Given the description of an element on the screen output the (x, y) to click on. 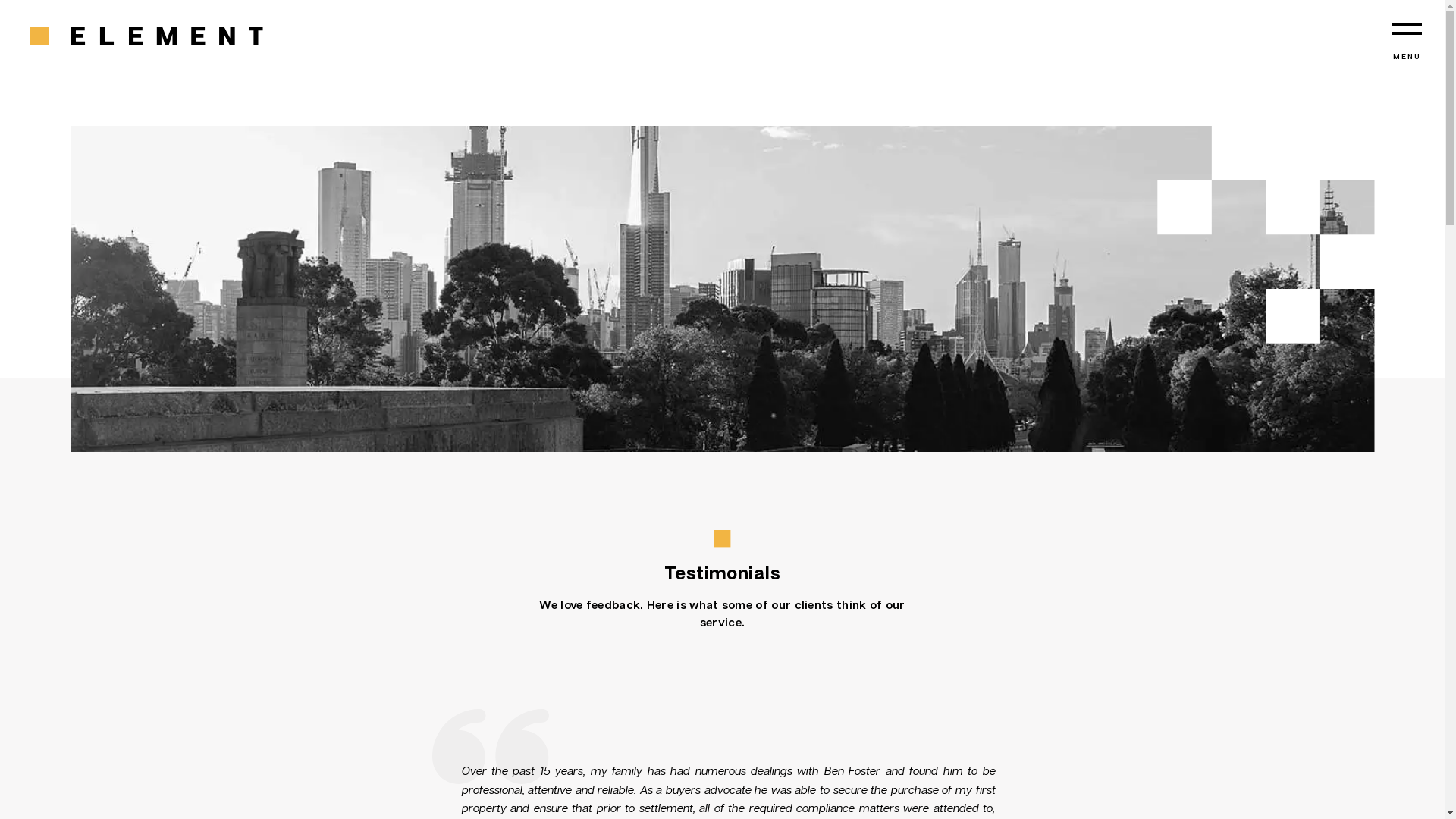
Element Commercial Element type: hover (146, 36)
MENU Element type: text (1406, 41)
